Given the description of an element on the screen output the (x, y) to click on. 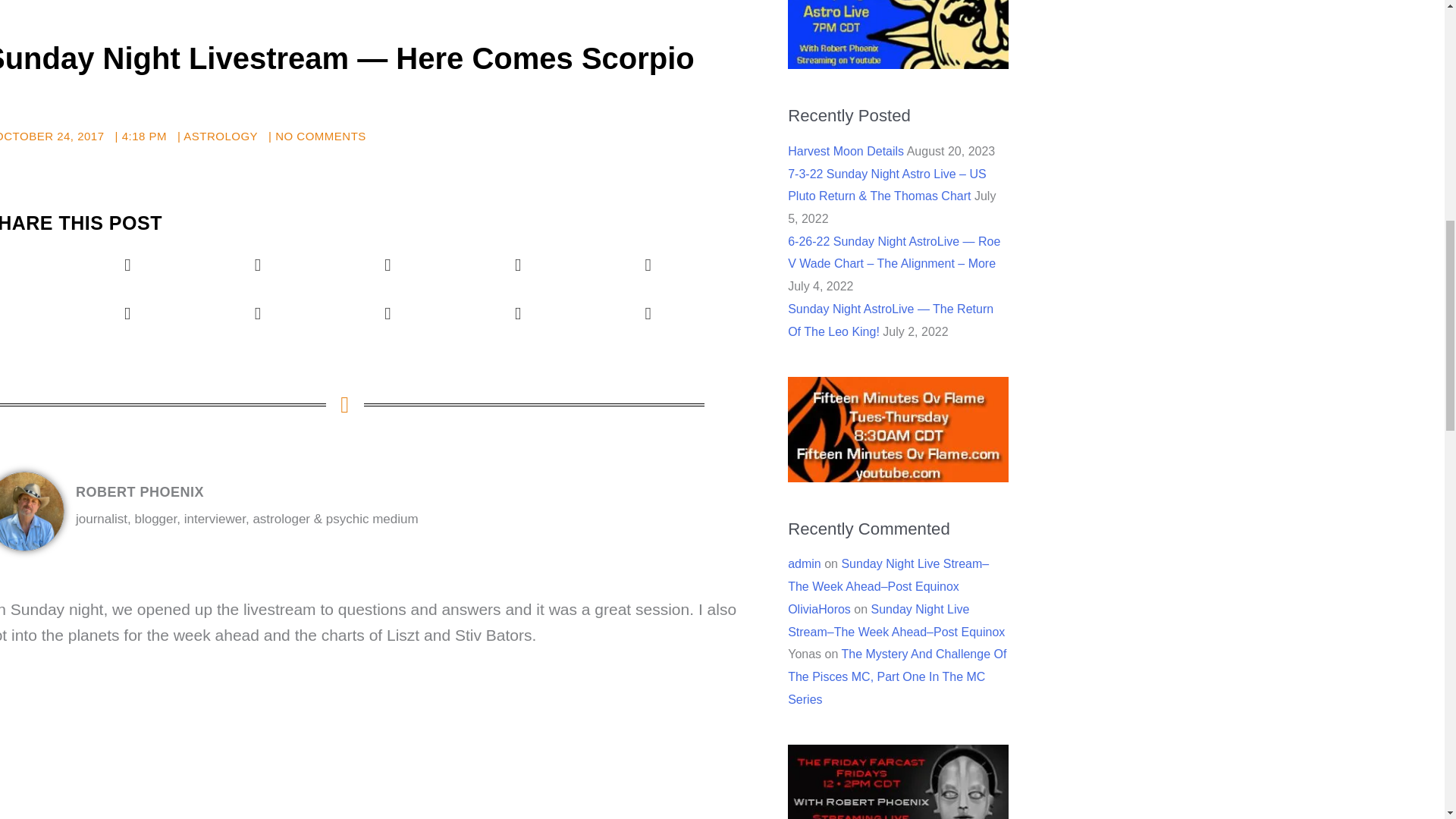
ASTROLOGY (220, 135)
Harvest Moon Details (845, 151)
admin (804, 563)
OCTOBER 24, 2017 (52, 136)
OliviaHoros (818, 608)
